Given the description of an element on the screen output the (x, y) to click on. 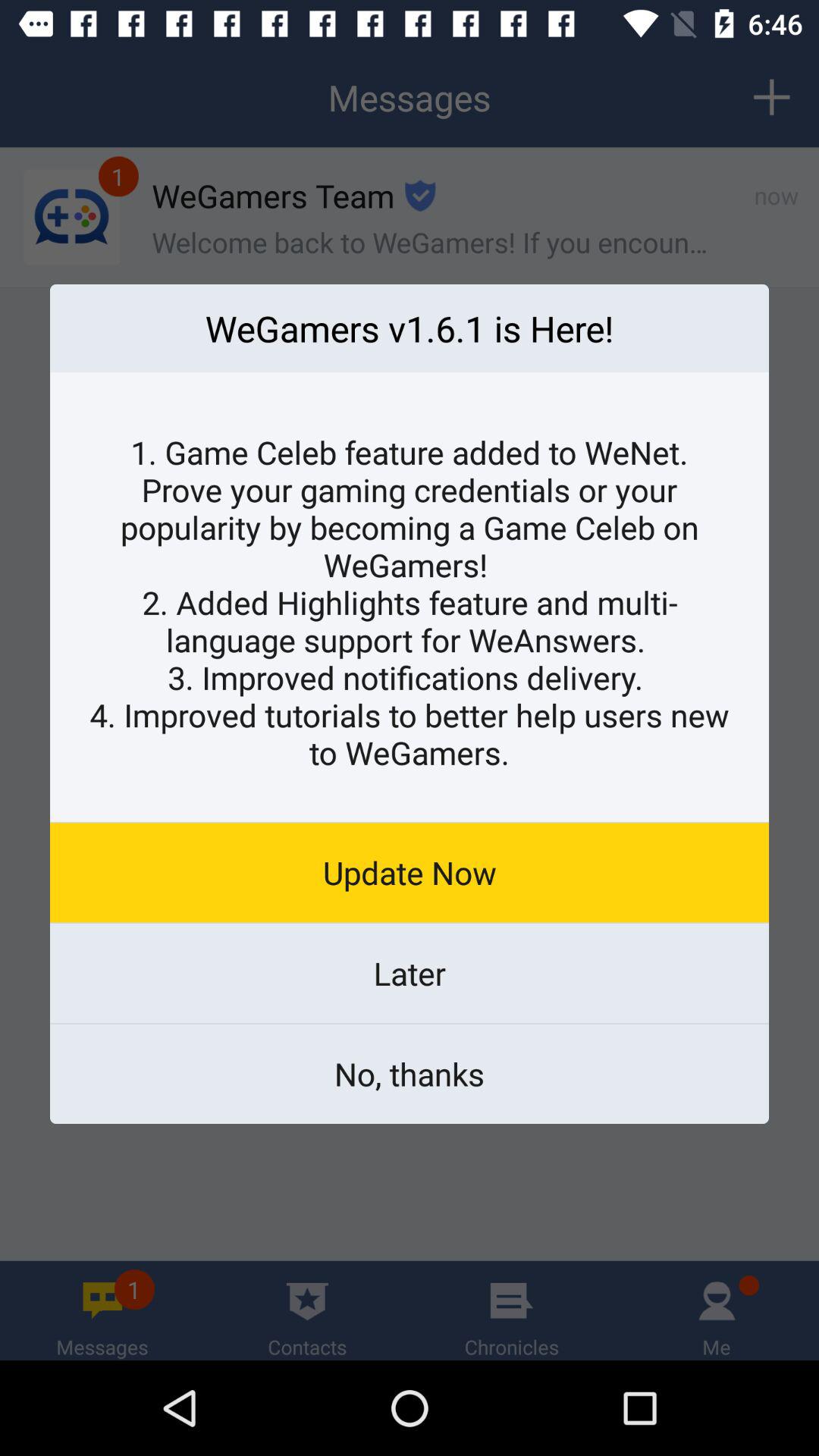
jump to the later (409, 973)
